Given the description of an element on the screen output the (x, y) to click on. 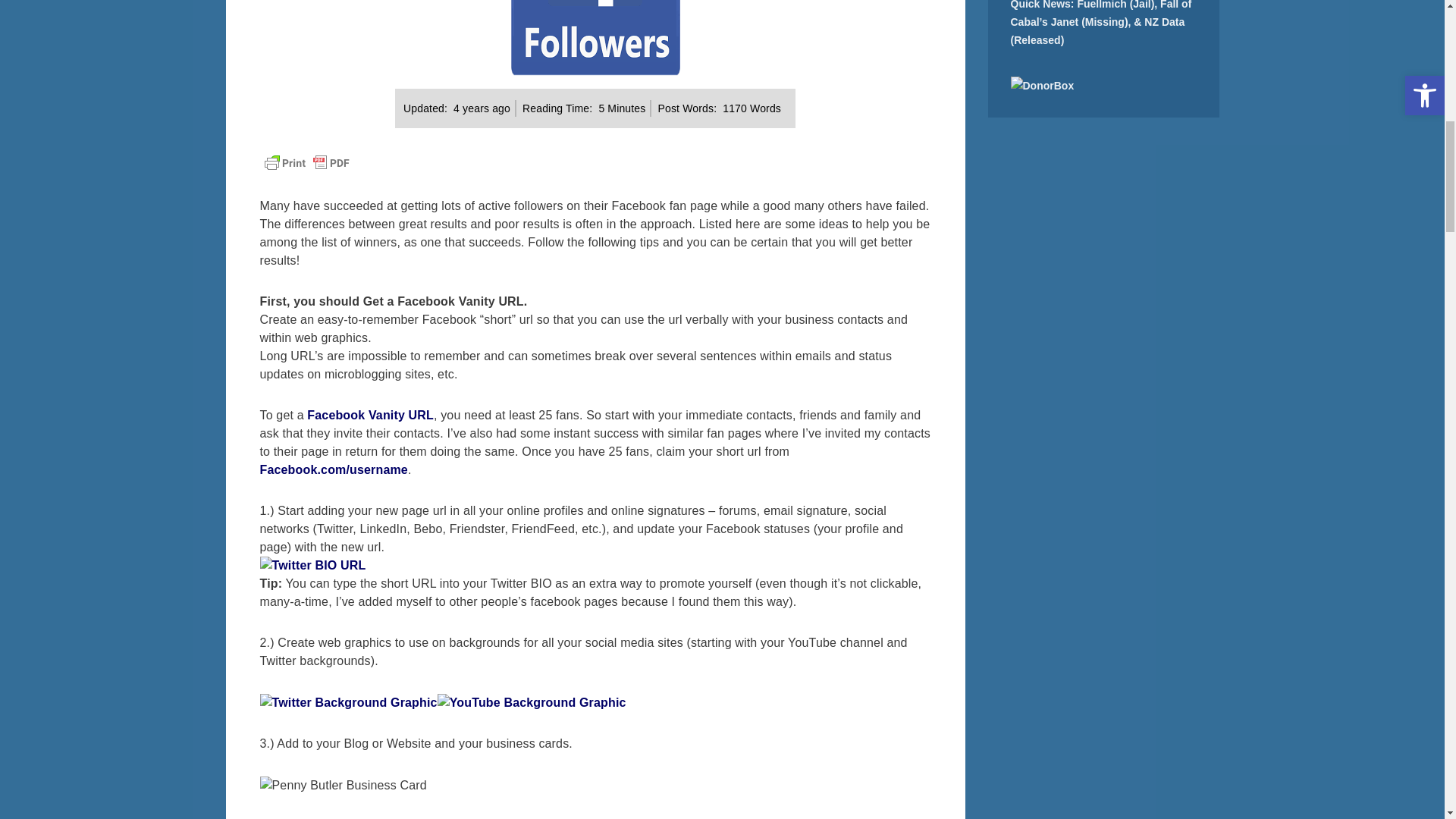
Facebook Vanity URL (370, 414)
Twitter BIO URL (312, 565)
YouTube HappyChes (532, 701)
Facebook Username (333, 469)
Facebook Vanity URL (370, 414)
